Given the description of an element on the screen output the (x, y) to click on. 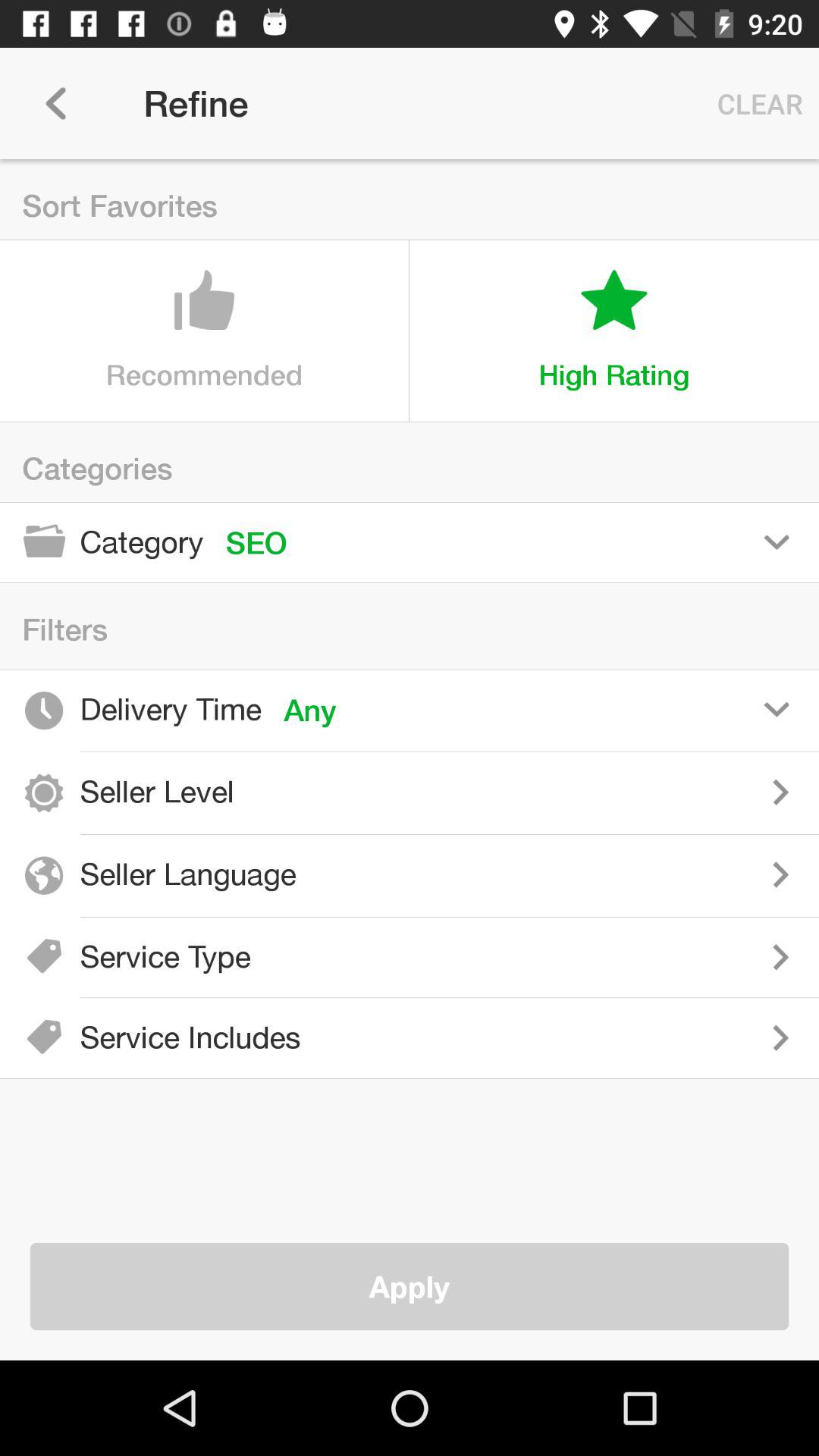
select seller level (537, 791)
